Given the description of an element on the screen output the (x, y) to click on. 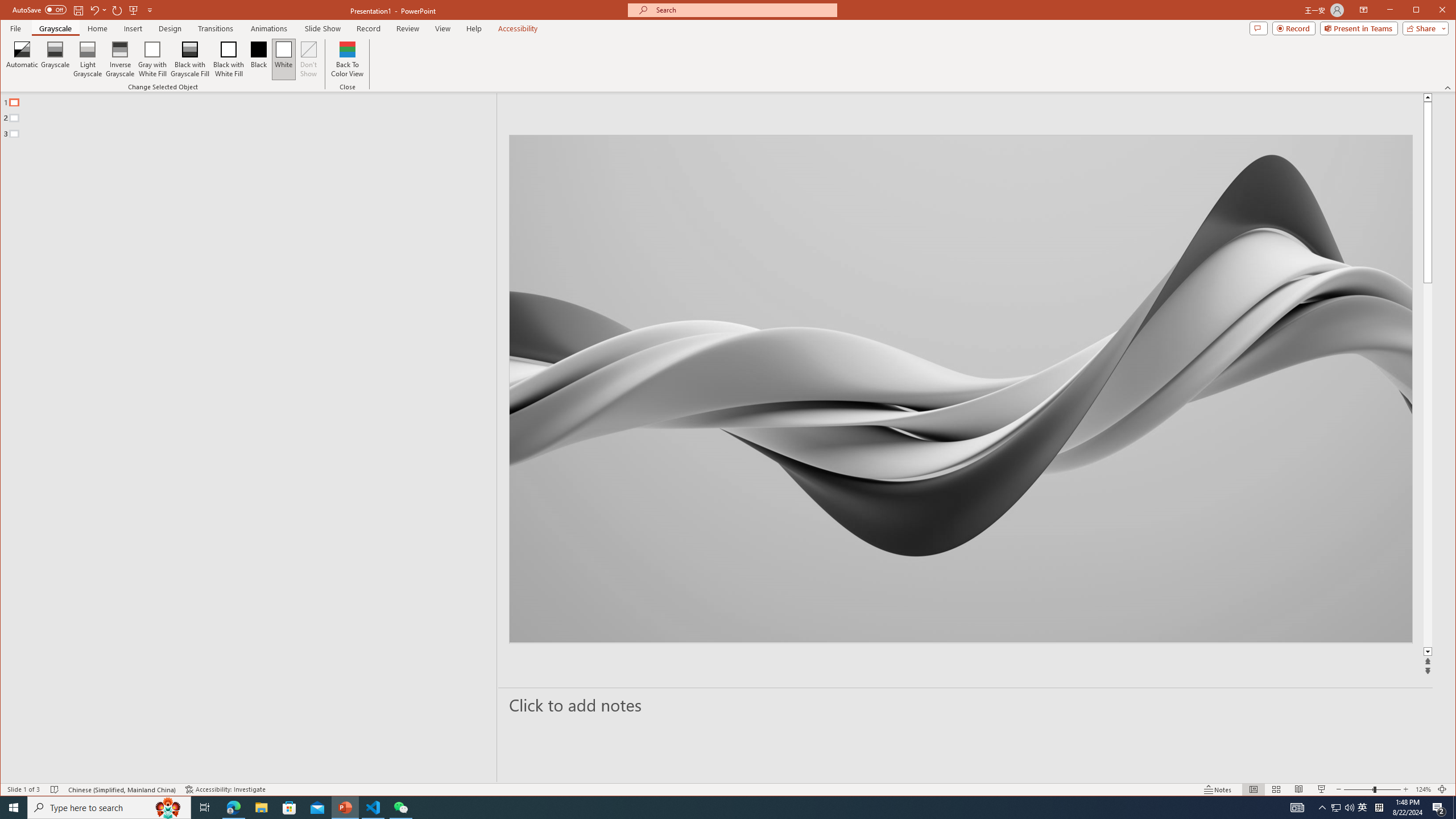
Black with White Fill (229, 59)
Back To Color View (347, 59)
Automatic (22, 59)
Maximize (1432, 11)
